Given the description of an element on the screen output the (x, y) to click on. 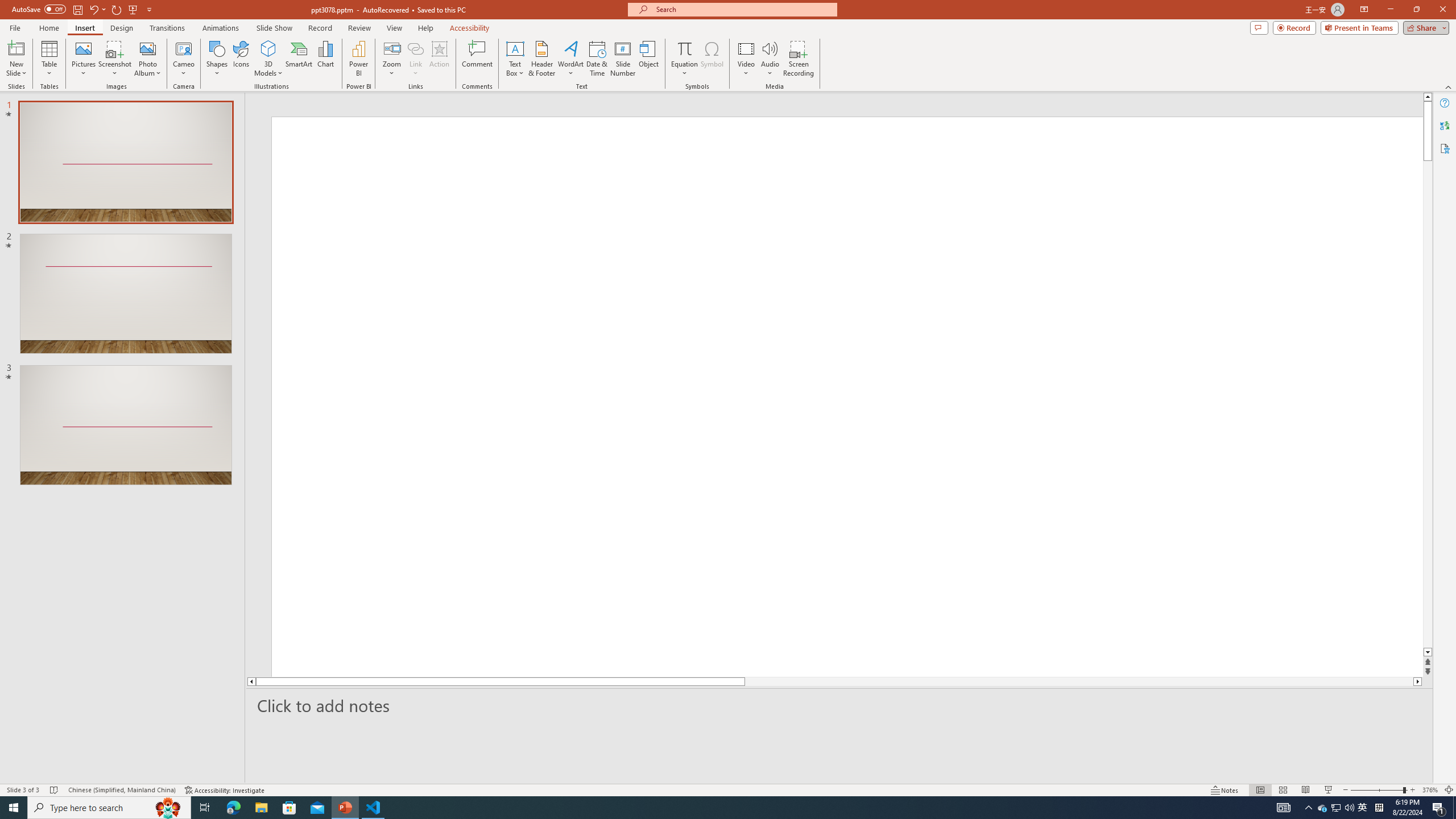
3D Models (268, 58)
Header & Footer... (541, 58)
Slide Number (622, 58)
3D Models (268, 48)
